Given the description of an element on the screen output the (x, y) to click on. 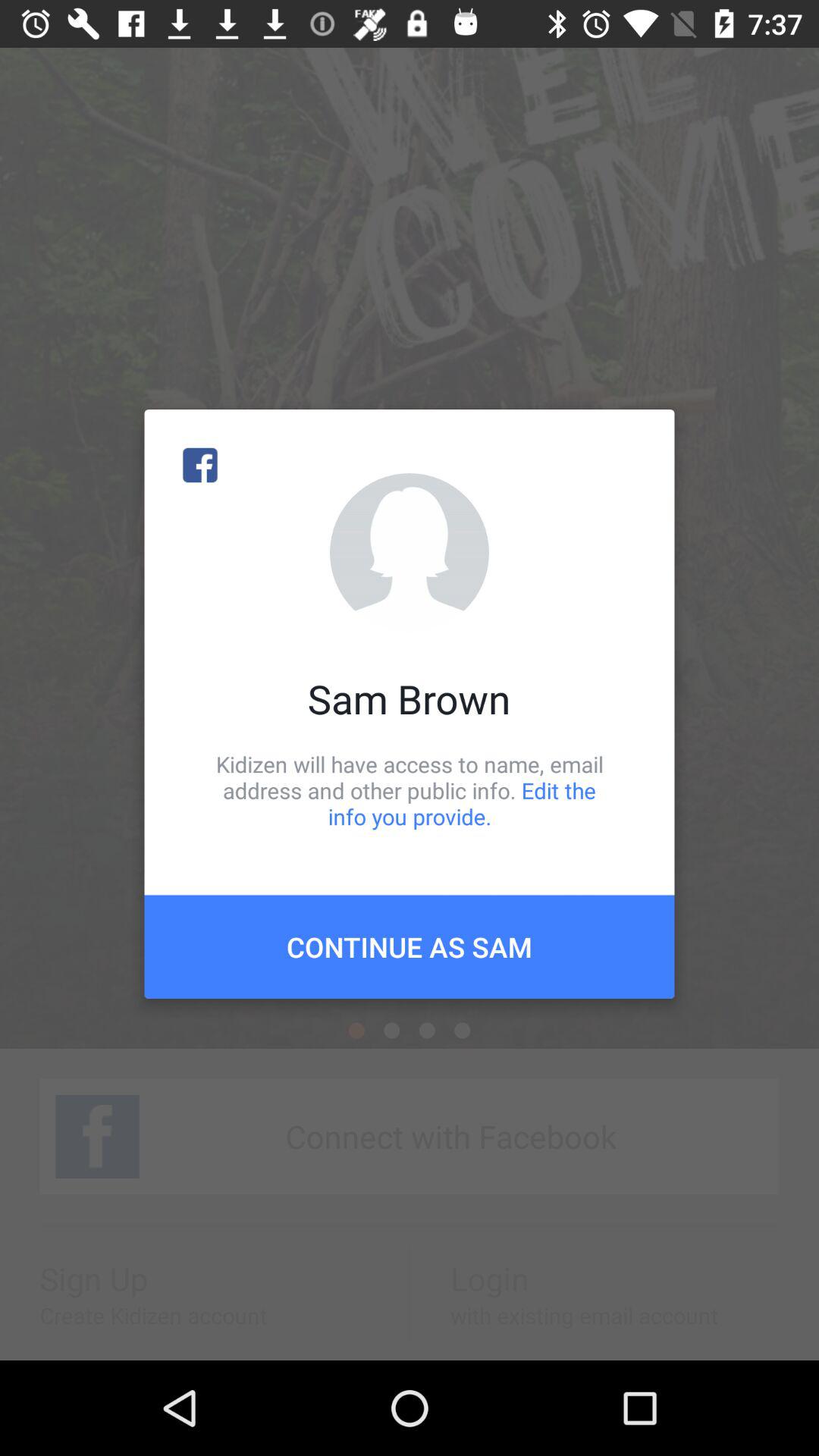
launch continue as sam item (409, 946)
